Given the description of an element on the screen output the (x, y) to click on. 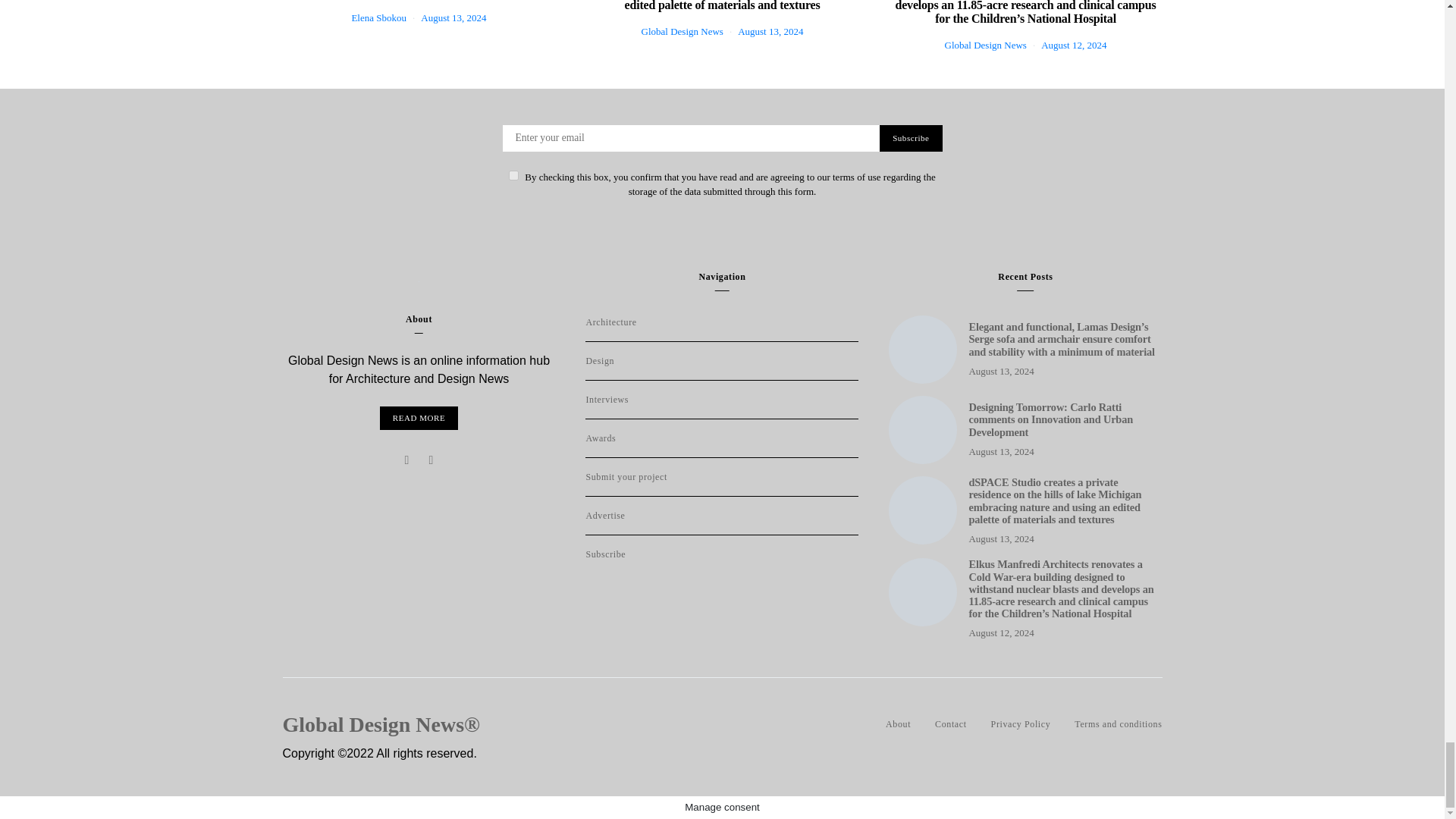
View all posts by Global Design News (985, 44)
View all posts by Global Design News (682, 30)
View all posts by Elena Sbokou (378, 17)
on (513, 175)
